Given the description of an element on the screen output the (x, y) to click on. 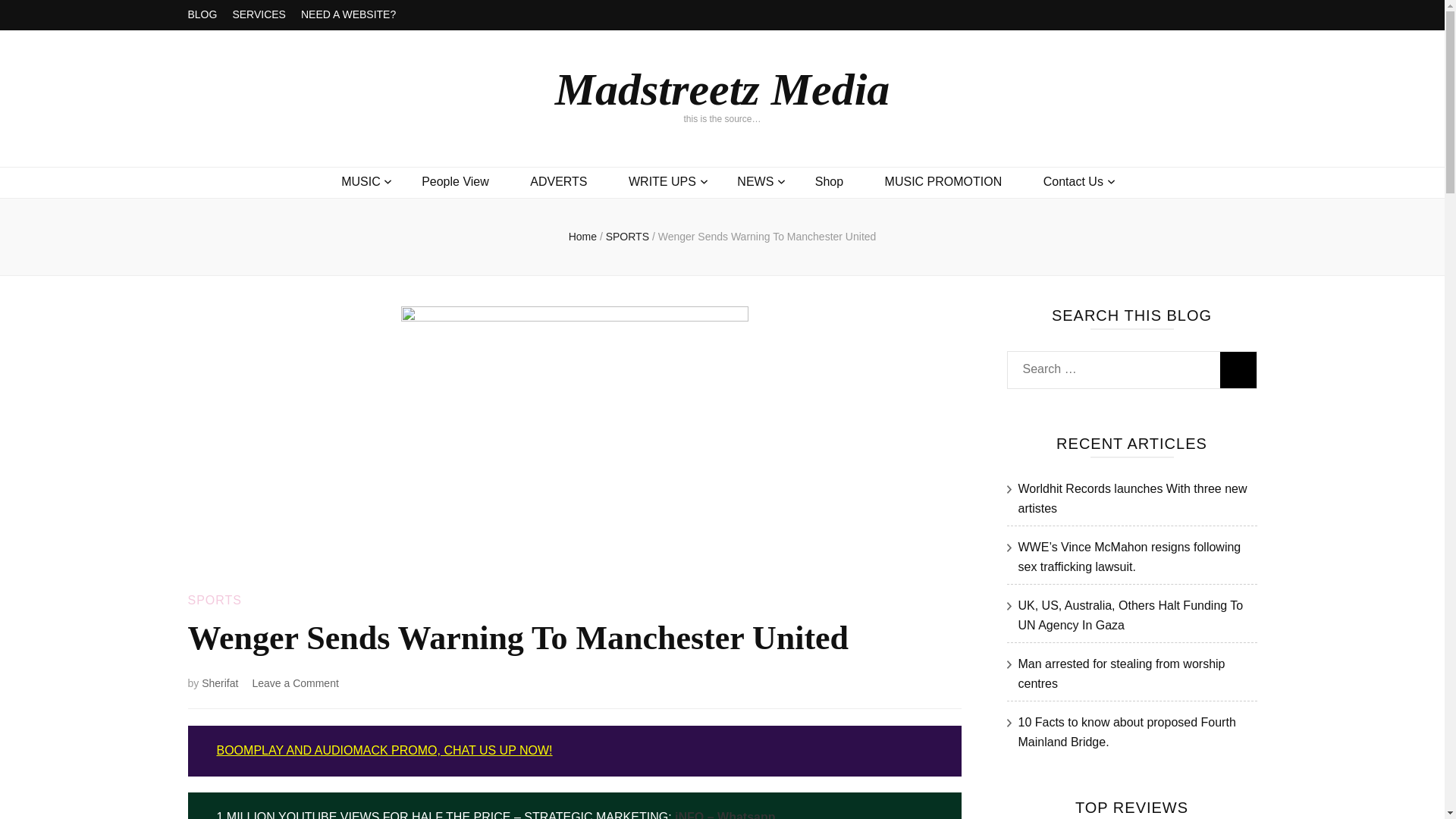
BLOG (201, 15)
Home (582, 236)
MUSIC (360, 181)
NEWS (754, 181)
Sherifat (220, 683)
NEED A WEBSITE? (348, 15)
Search (1237, 370)
Search (1237, 370)
WRITE UPS (661, 181)
Madstreetz Media (721, 89)
Contact Us (1073, 181)
SPORTS (628, 236)
Wenger Sends Warning To Manchester United (767, 236)
SERVICES (258, 15)
SPORTS (215, 599)
